Given the description of an element on the screen output the (x, y) to click on. 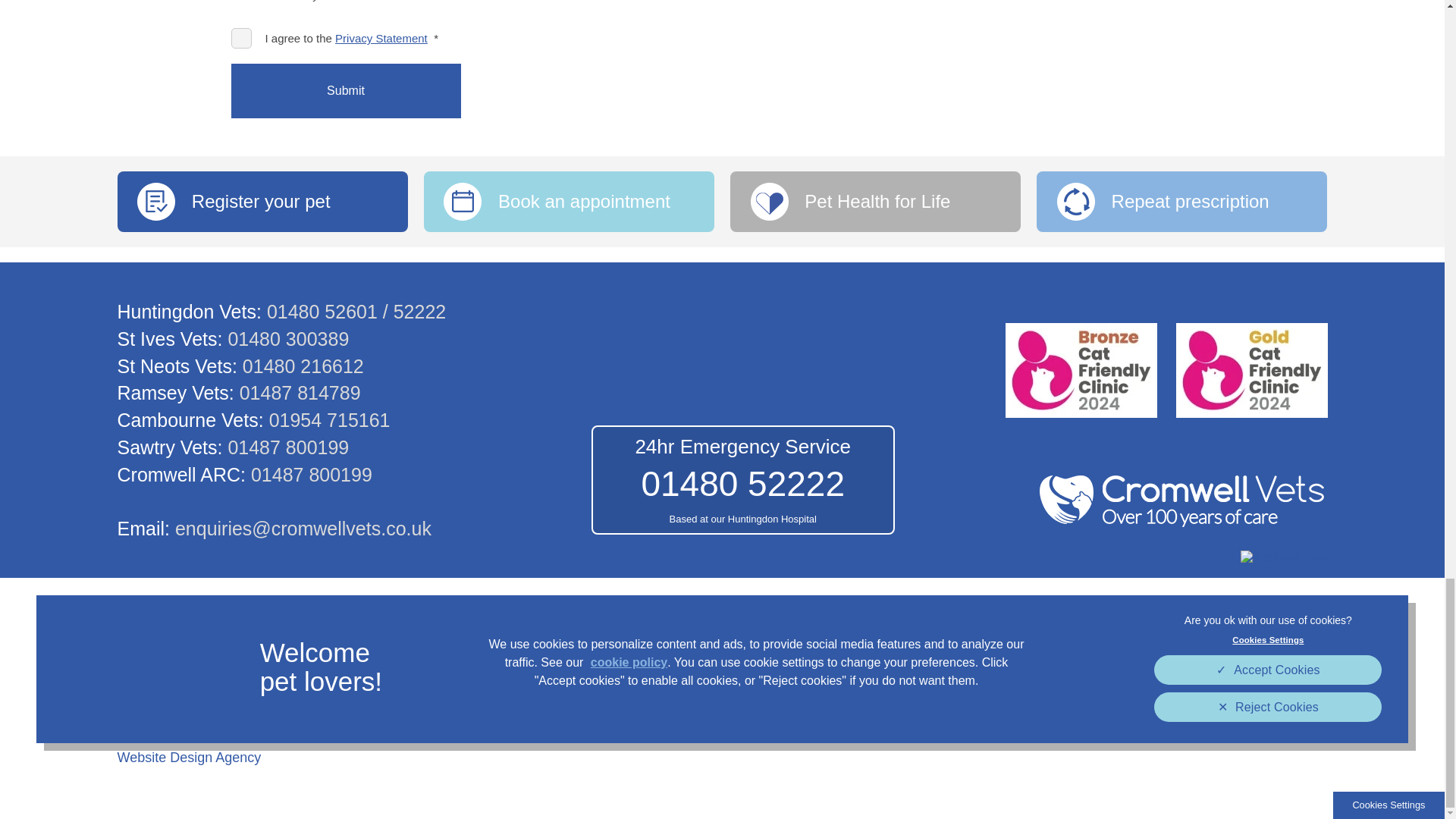
Website Development by Clickingmad (188, 757)
